Given the description of an element on the screen output the (x, y) to click on. 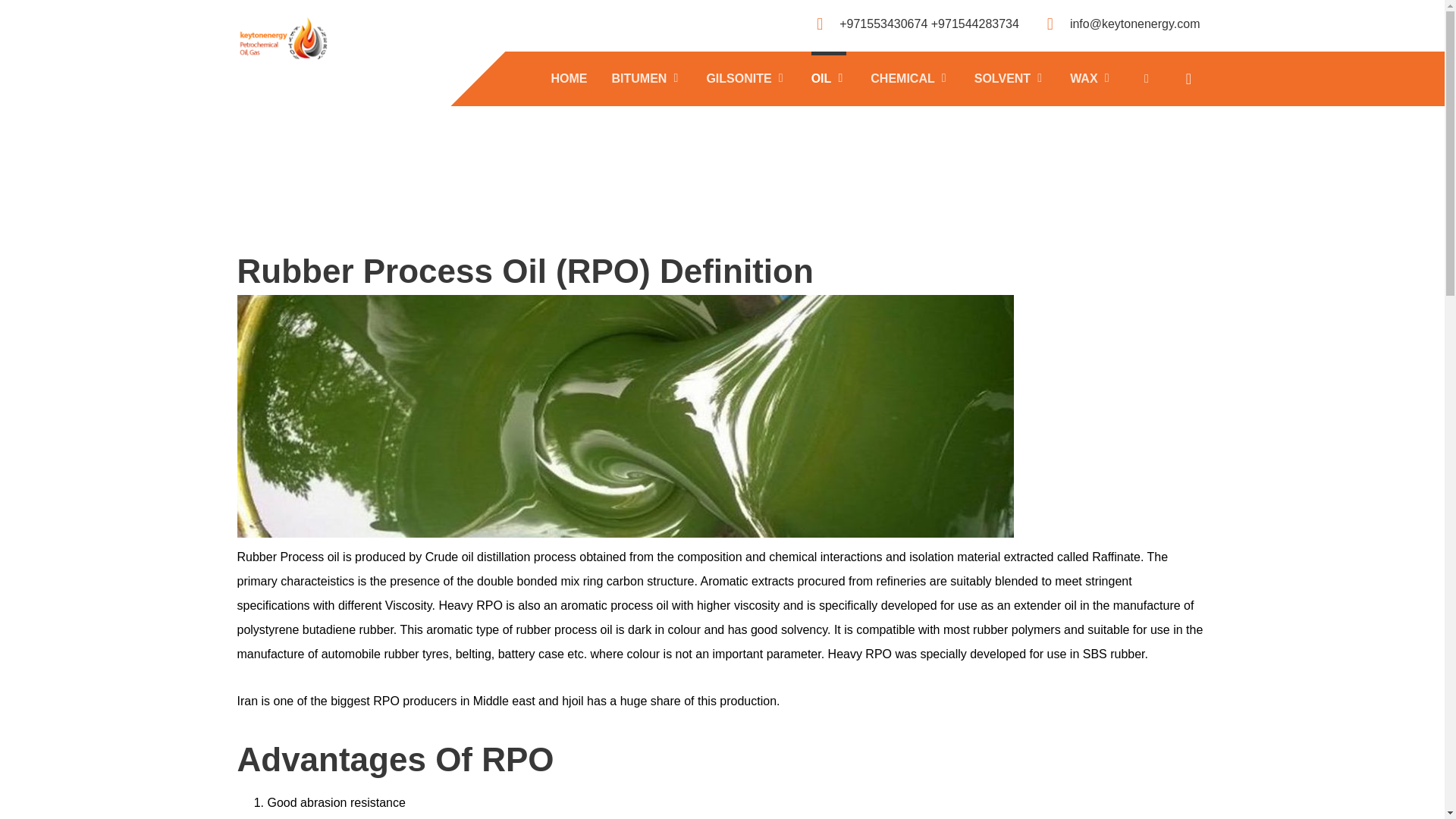
oil industry (281, 37)
HOME (569, 78)
BITUMEN (646, 78)
